Given the description of an element on the screen output the (x, y) to click on. 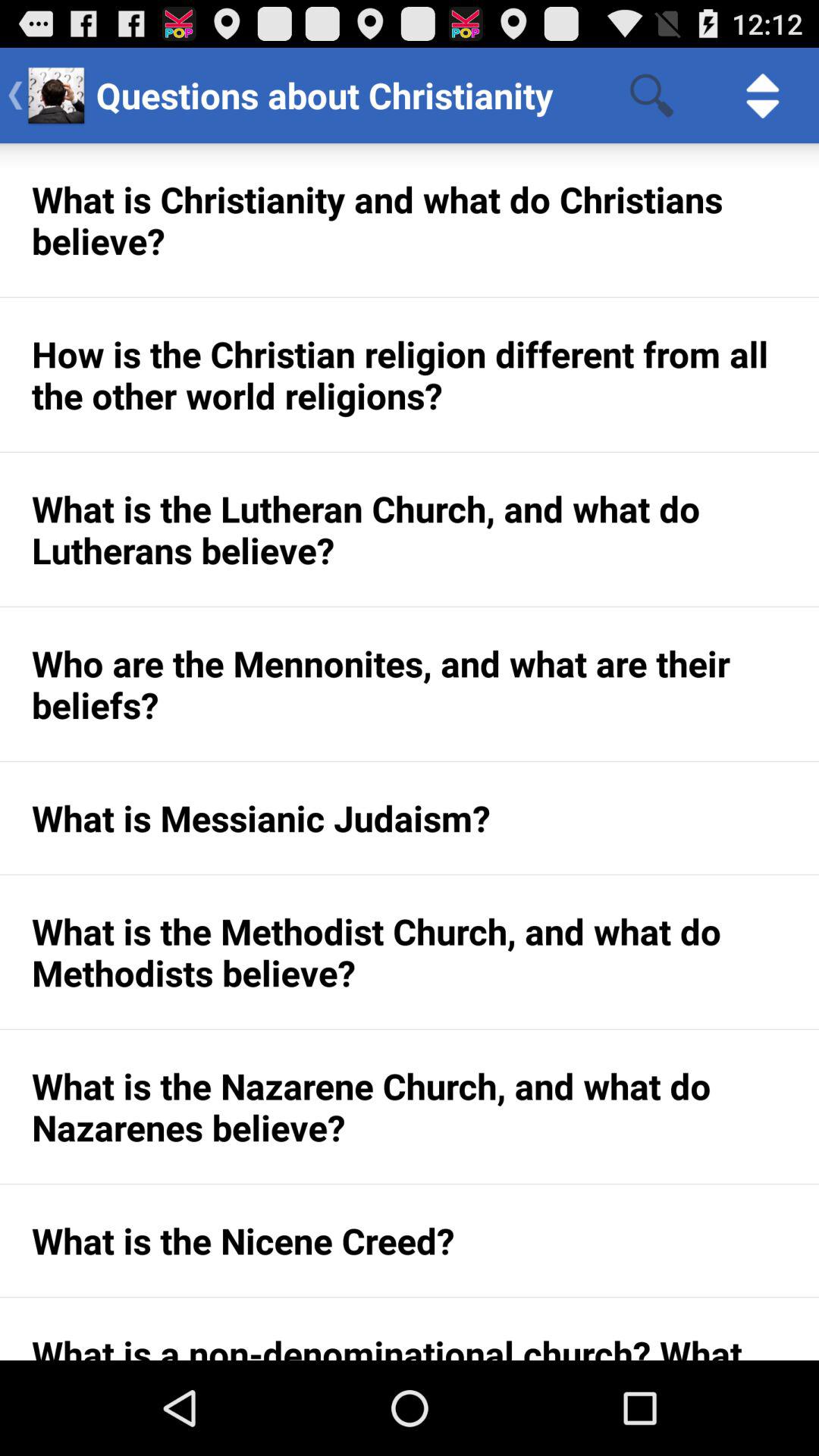
launch who are the app (409, 683)
